Given the description of an element on the screen output the (x, y) to click on. 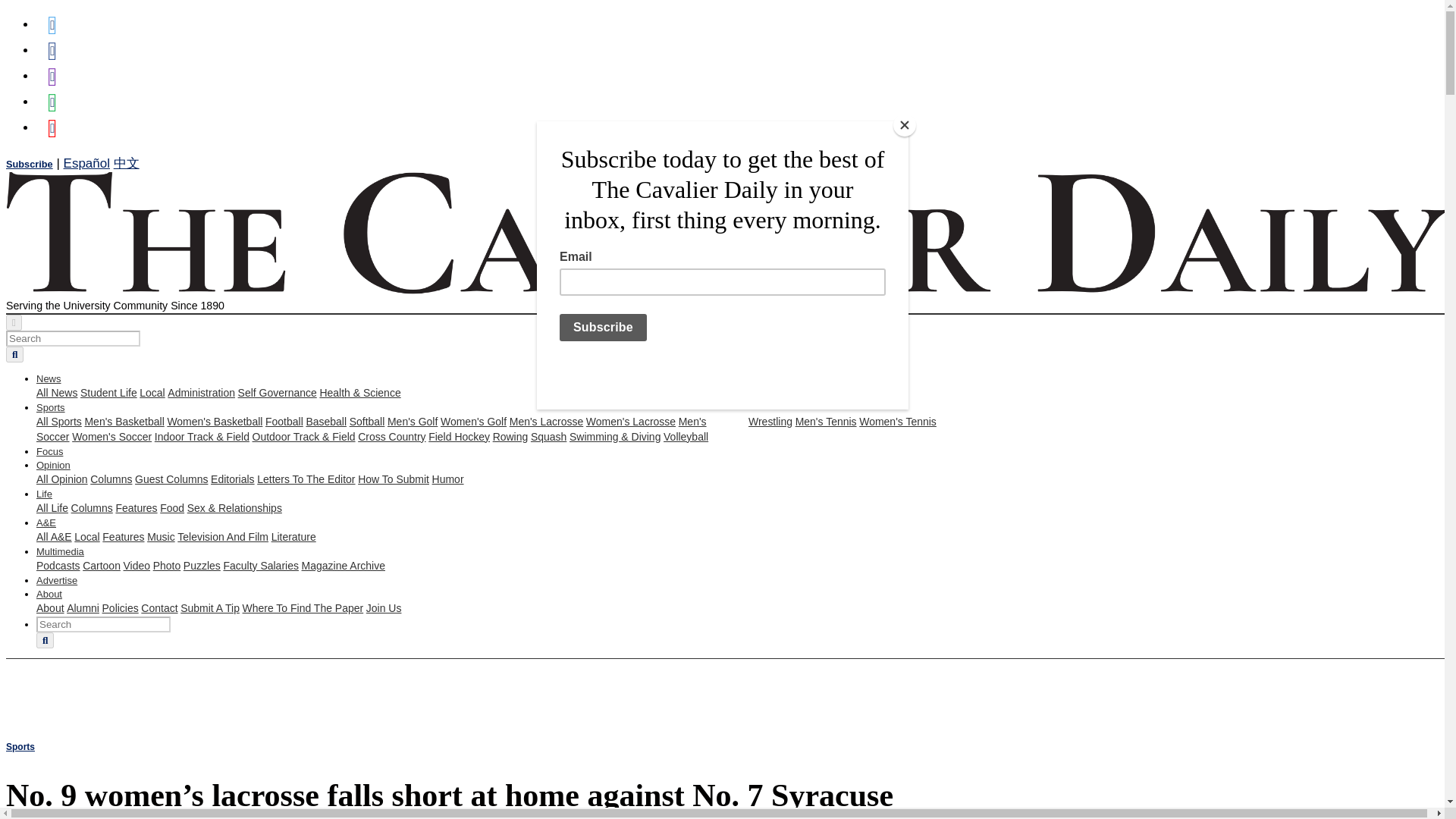
Men'S Basketball (123, 421)
Wrestling (770, 421)
Cross Country (391, 436)
Subscribe (28, 163)
Men'S Soccer (371, 429)
Softball (367, 421)
Student Life (108, 392)
Rowing (510, 436)
Men'S Golf (412, 421)
Women'S Lacrosse (630, 421)
News (48, 378)
Advertise (56, 580)
All News (56, 392)
All Sports (58, 421)
Sports (50, 407)
